Given the description of an element on the screen output the (x, y) to click on. 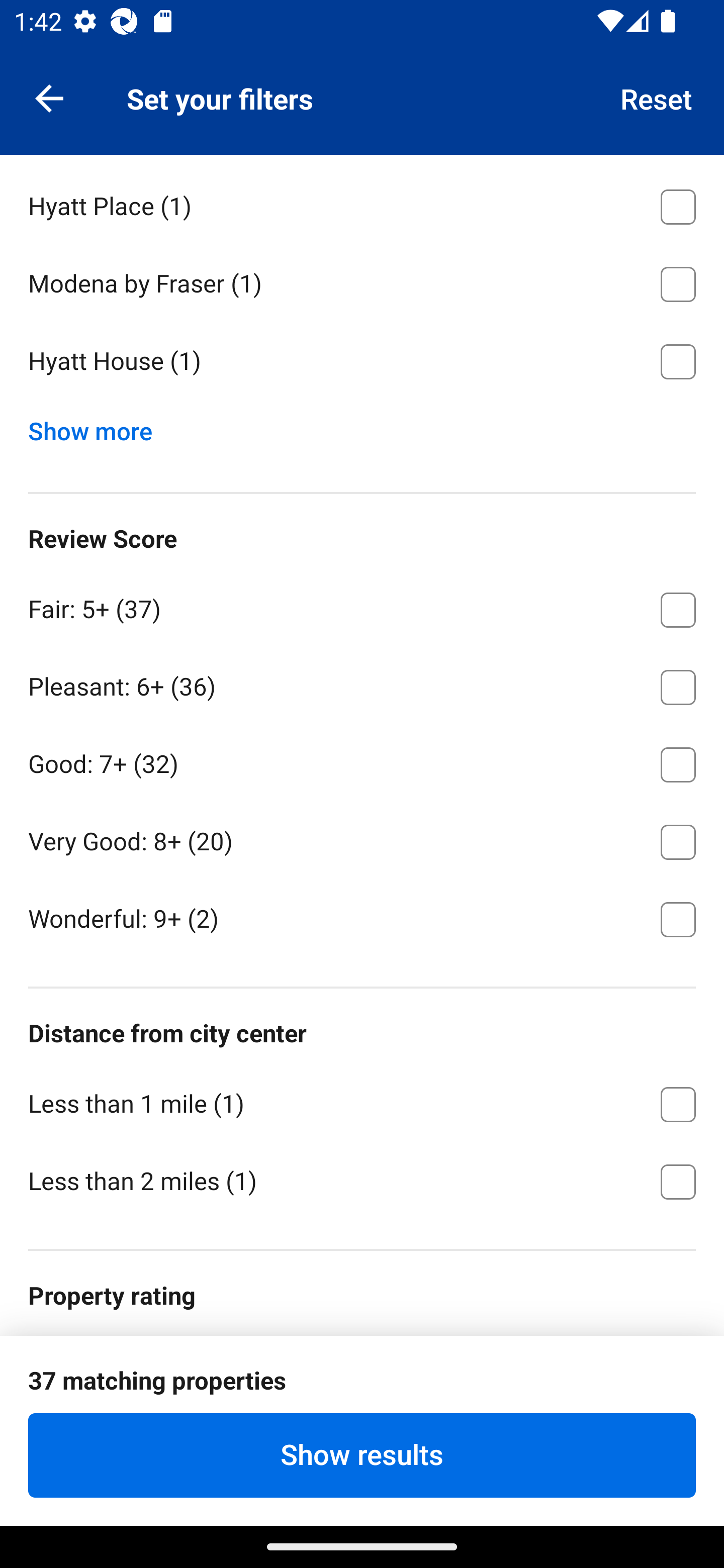
Navigate up (49, 97)
Reset (656, 97)
Hyatt Place ⁦(1) (361, 202)
Modena by Fraser ⁦(1) (361, 280)
Hyatt House ⁦(1) (361, 361)
Show more (97, 427)
Fair: 5+ ⁦(37) (361, 606)
Pleasant: 6+ ⁦(36) (361, 684)
Good: 7+ ⁦(32) (361, 760)
Very Good: 8+ ⁦(20) (361, 838)
Wonderful: 9+ ⁦(2) (361, 918)
Less than 1 mile ⁦(1) (361, 1101)
Less than 2 miles ⁦(1) (361, 1180)
Show results (361, 1454)
